Given the description of an element on the screen output the (x, y) to click on. 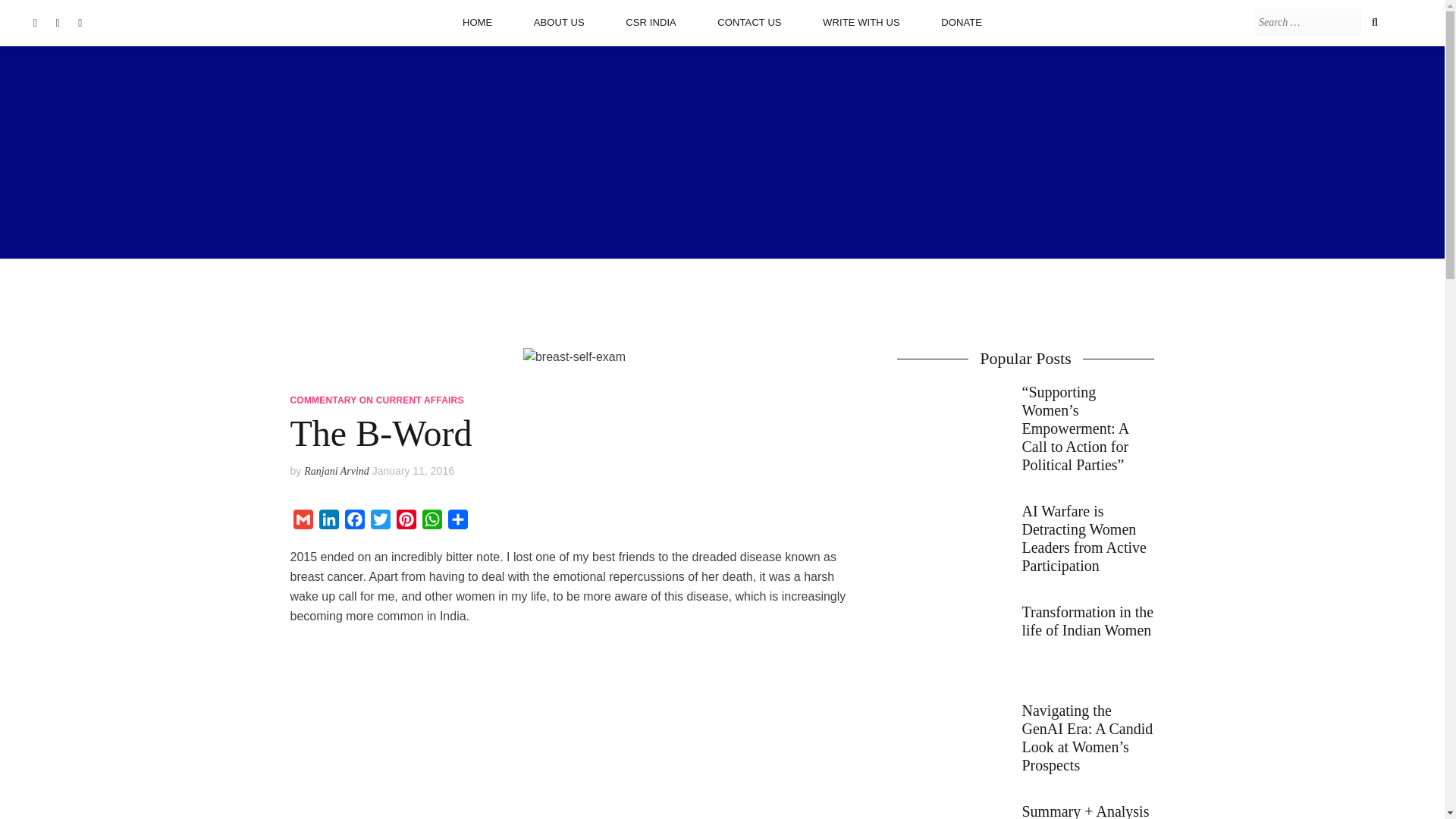
Ranjani Arvind (336, 471)
Pinterest (406, 522)
Facebook (353, 522)
Gmail (302, 522)
Twitter (379, 522)
WRITE WITH US (860, 22)
DONATE (961, 22)
WhatsApp (431, 522)
Write With Us (860, 22)
LinkedIn (327, 522)
